Given the description of an element on the screen output the (x, y) to click on. 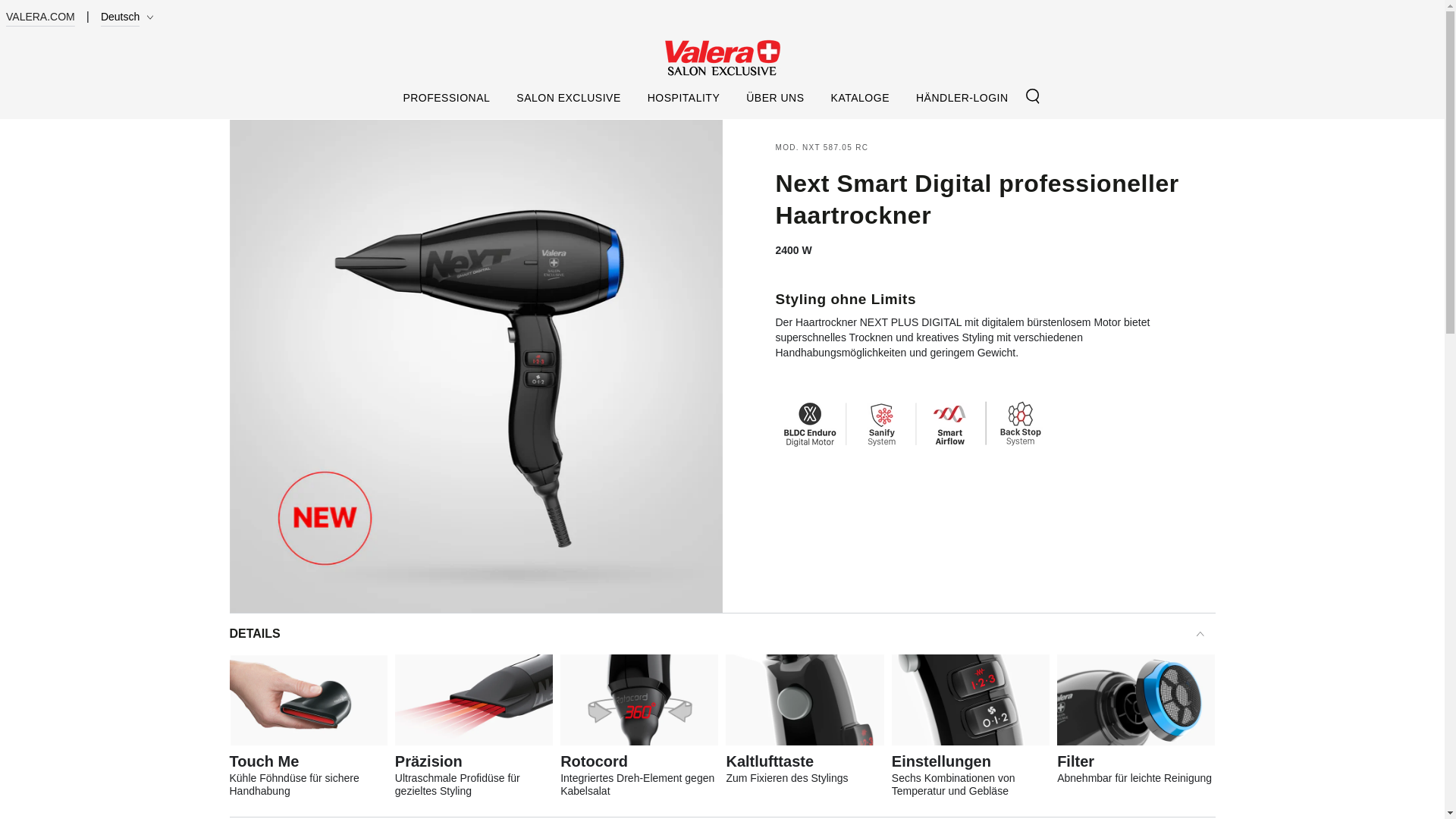
Deutsch (130, 17)
ZUM INHALT SPRINGEN (67, 14)
VALERA.COM (40, 16)
